Given the description of an element on the screen output the (x, y) to click on. 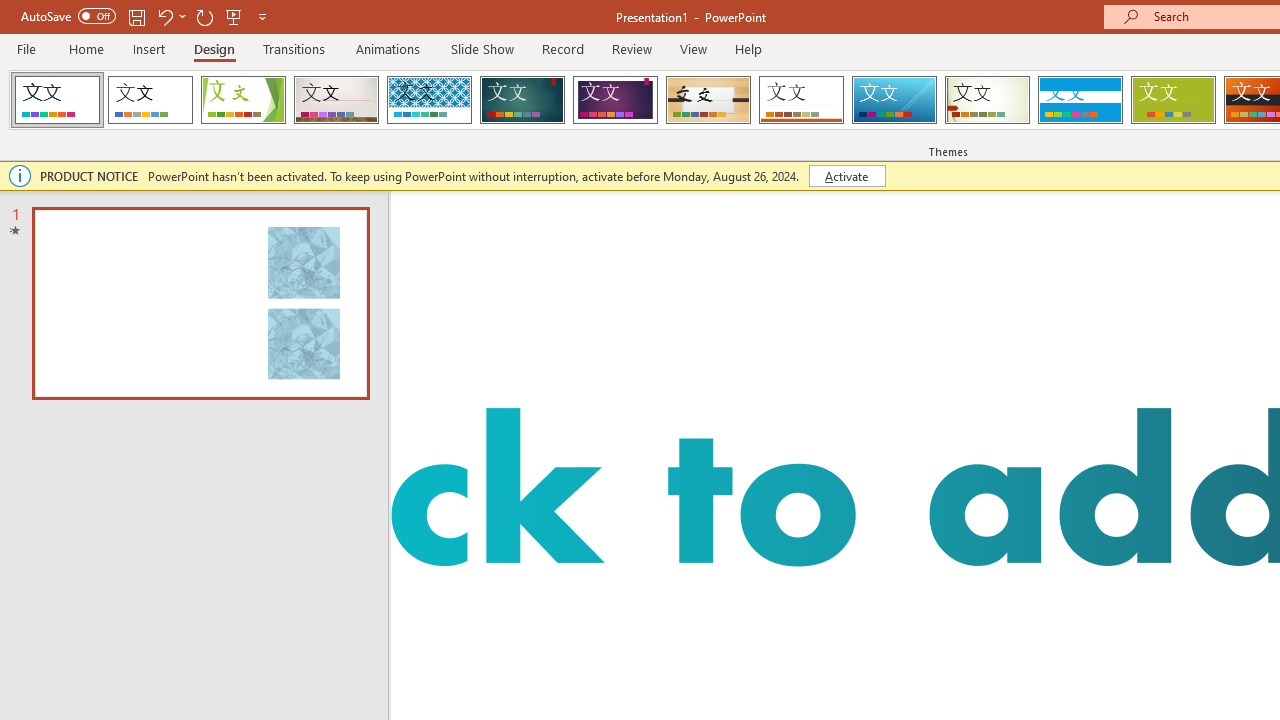
Ion (522, 100)
Gallery (336, 100)
Facet (243, 100)
